Given the description of an element on the screen output the (x, y) to click on. 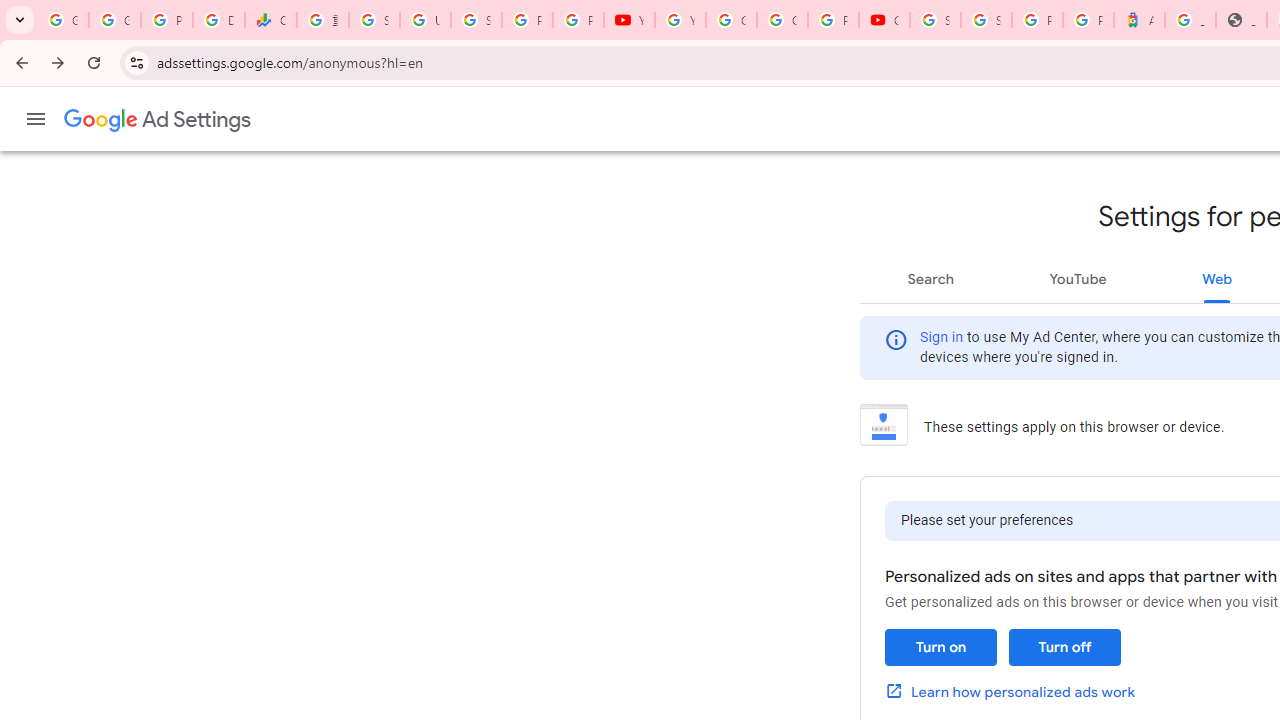
Sign in - Google Accounts (374, 20)
Ad Settings (158, 120)
YouTube (629, 20)
Turn ads based on your interests on. (940, 647)
Google Workspace Admin Community (63, 20)
